Given the description of an element on the screen output the (x, y) to click on. 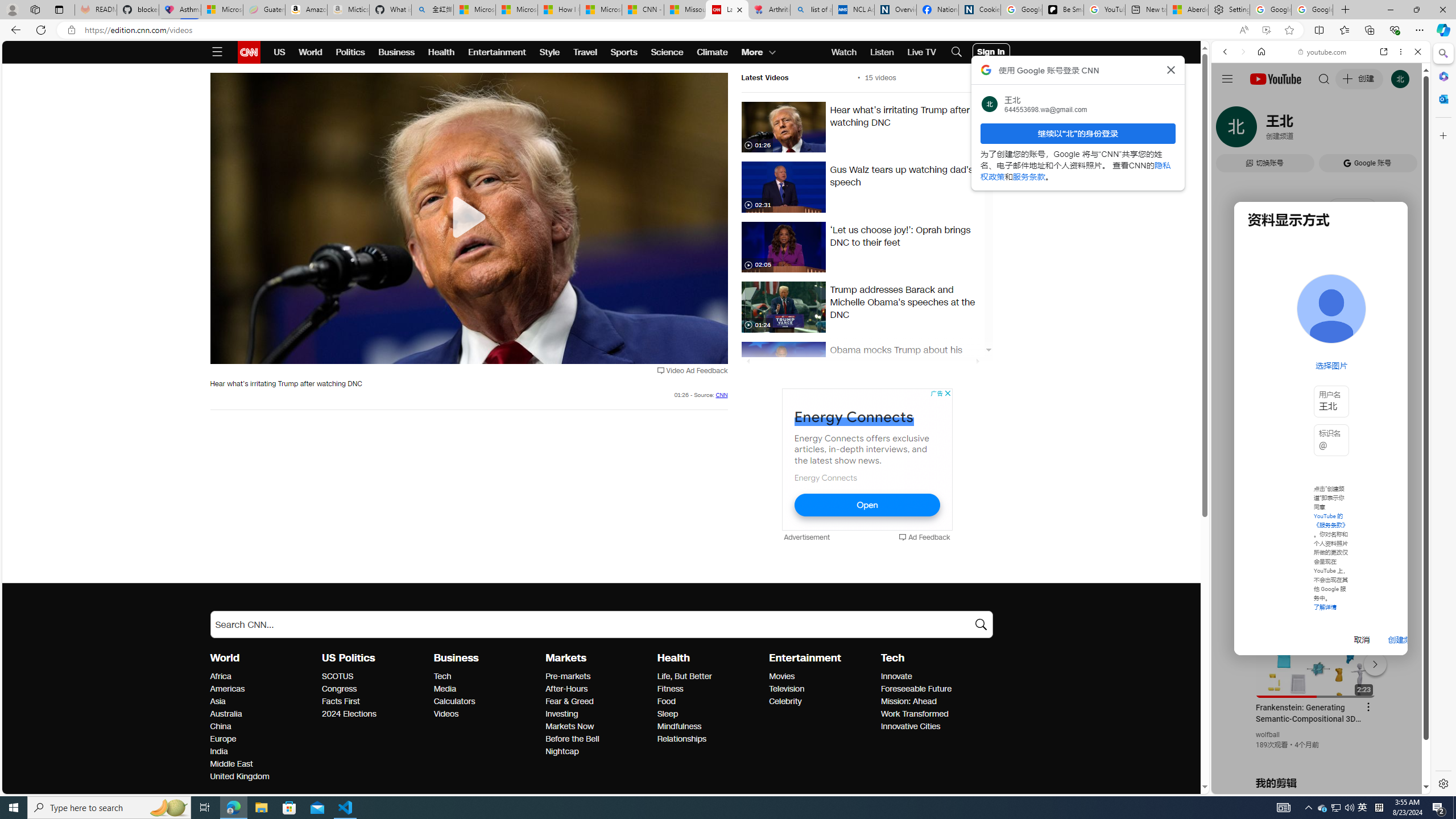
AutomationID: cbb (947, 393)
trumo.jpg (783, 306)
Class: dict_pnIcon rms_img (1312, 784)
Class: Bz112c Bz112c-r9oPif (1170, 69)
Submit (980, 624)
Videos (485, 714)
Innovative Cities (932, 726)
Search Icon (956, 52)
